Given the description of an element on the screen output the (x, y) to click on. 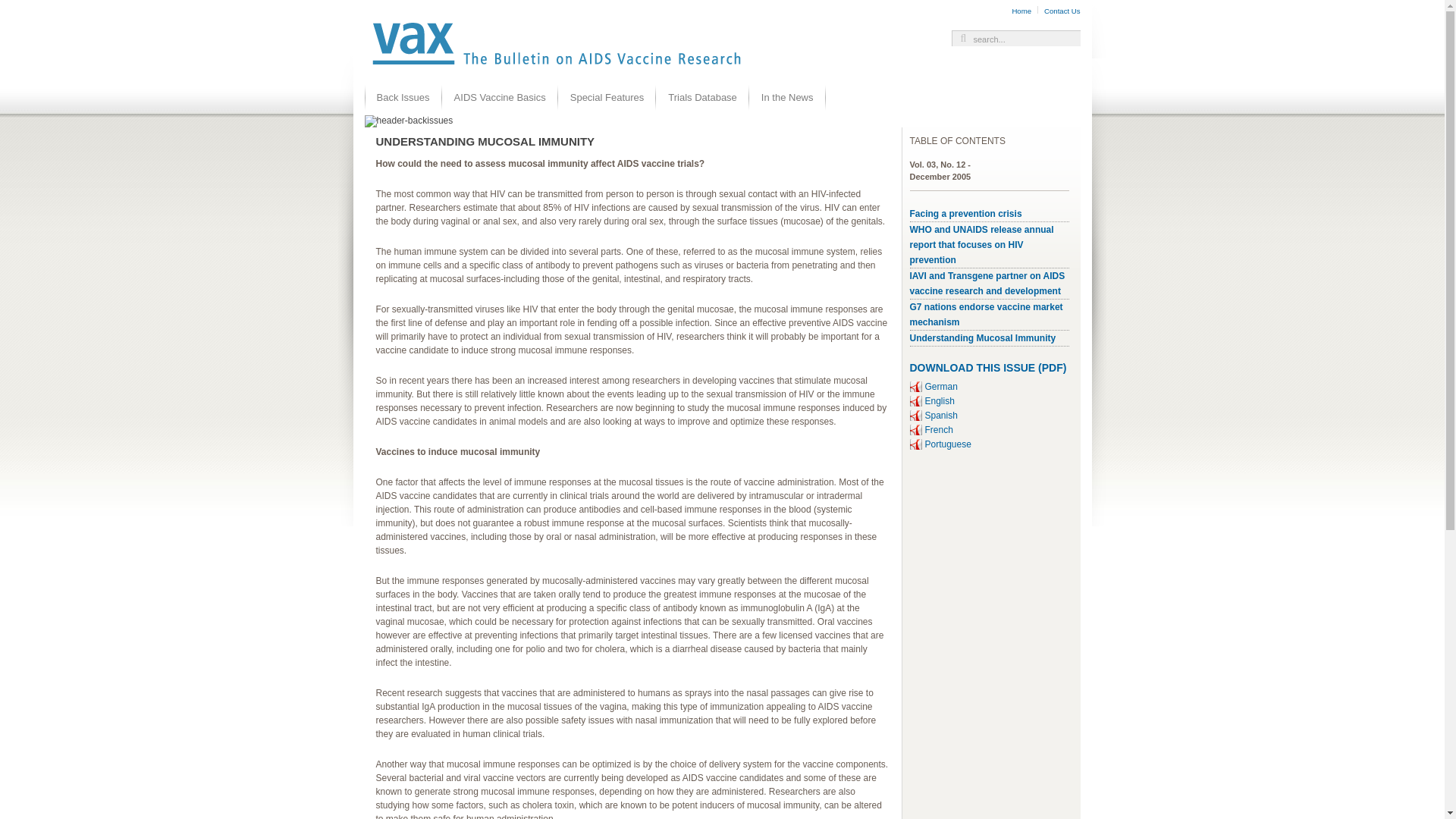
In the News (787, 97)
German (941, 386)
French (938, 429)
Portuguese (947, 443)
Understanding Mucosal Immunity (983, 337)
Facing a prevention crisis (966, 213)
French (938, 429)
AIDS Vaccine Basics (499, 97)
Back Issues (403, 97)
